Given the description of an element on the screen output the (x, y) to click on. 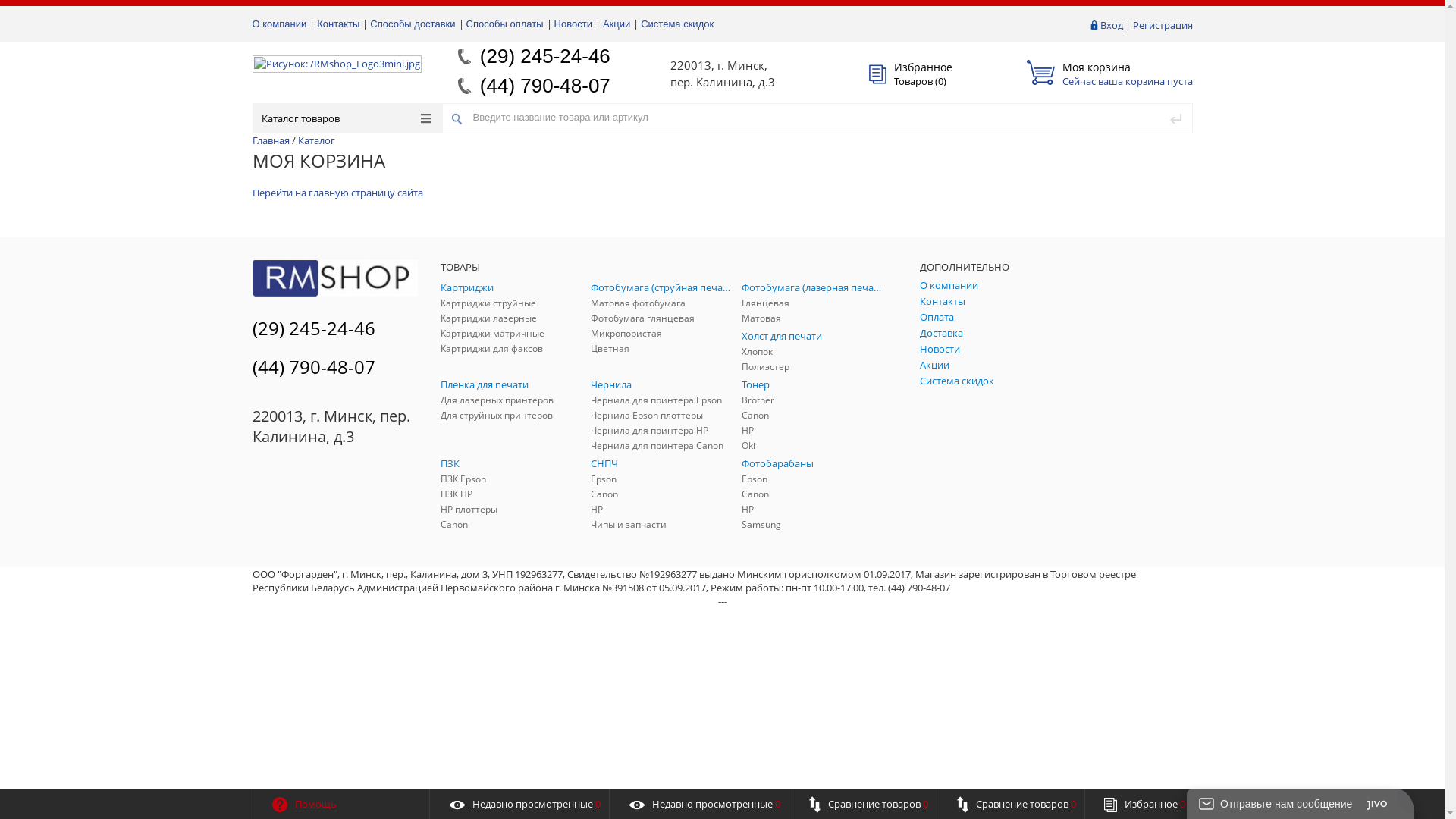
HP Element type: text (662, 508)
(29) 245-24-46 Element type: text (312, 327)
(29) 245-24-46 Element type: text (545, 55)
(44) 790-48-07 Element type: text (545, 85)
HP Element type: text (812, 429)
HP Element type: text (812, 508)
Canon Element type: text (662, 493)
Brother Element type: text (812, 399)
Canon Element type: text (812, 493)
Canon Element type: text (812, 414)
Samsung Element type: text (812, 523)
Oki Element type: text (812, 445)
Epson Element type: text (812, 478)
(44) 790-48-07 Element type: text (312, 366)
Canon Element type: text (511, 523)
Epson Element type: text (662, 478)
